Given the description of an element on the screen output the (x, y) to click on. 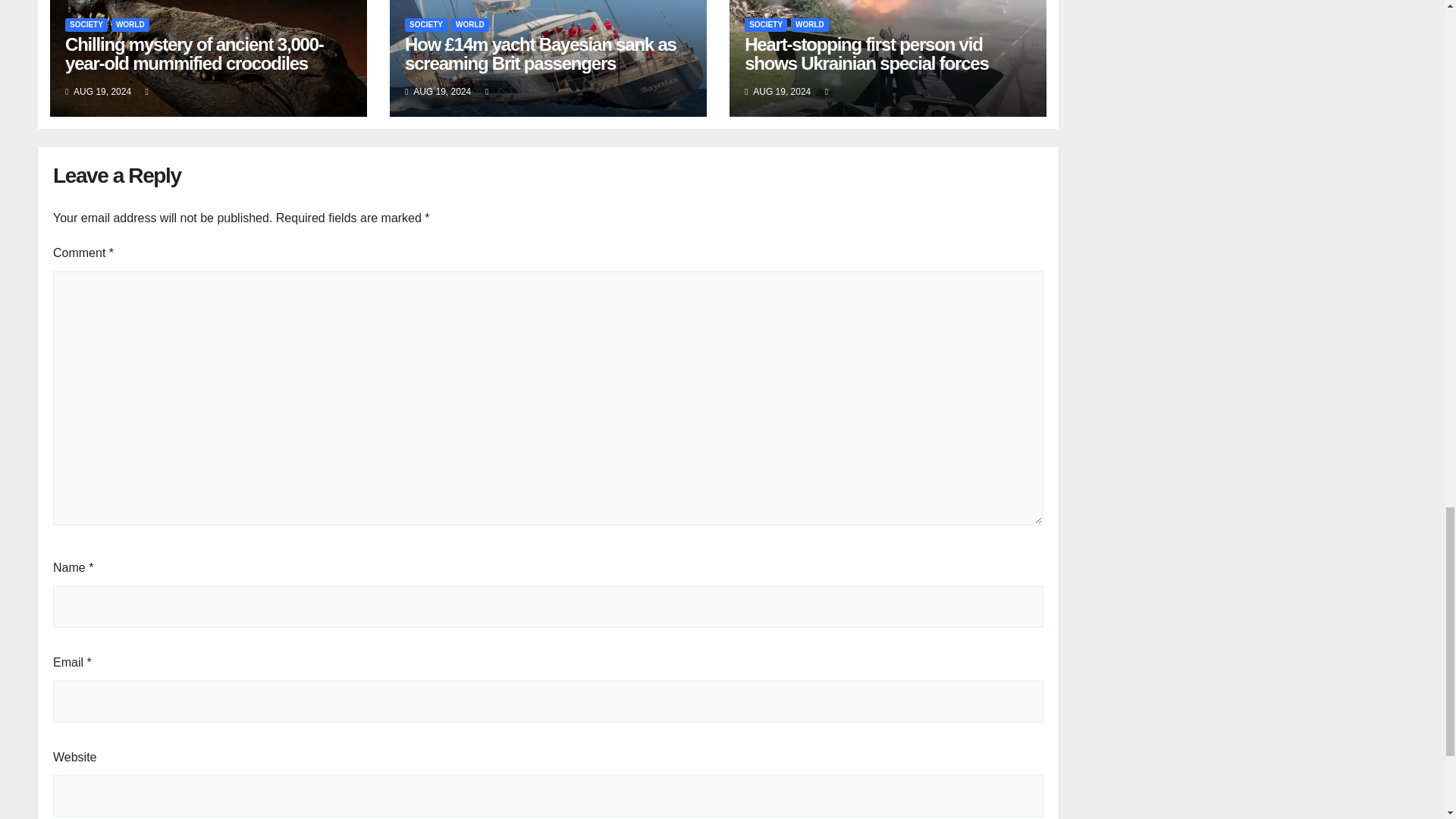
WORLD (130, 24)
SOCIETY (425, 24)
WORLD (470, 24)
SOCIETY (86, 24)
